Given the description of an element on the screen output the (x, y) to click on. 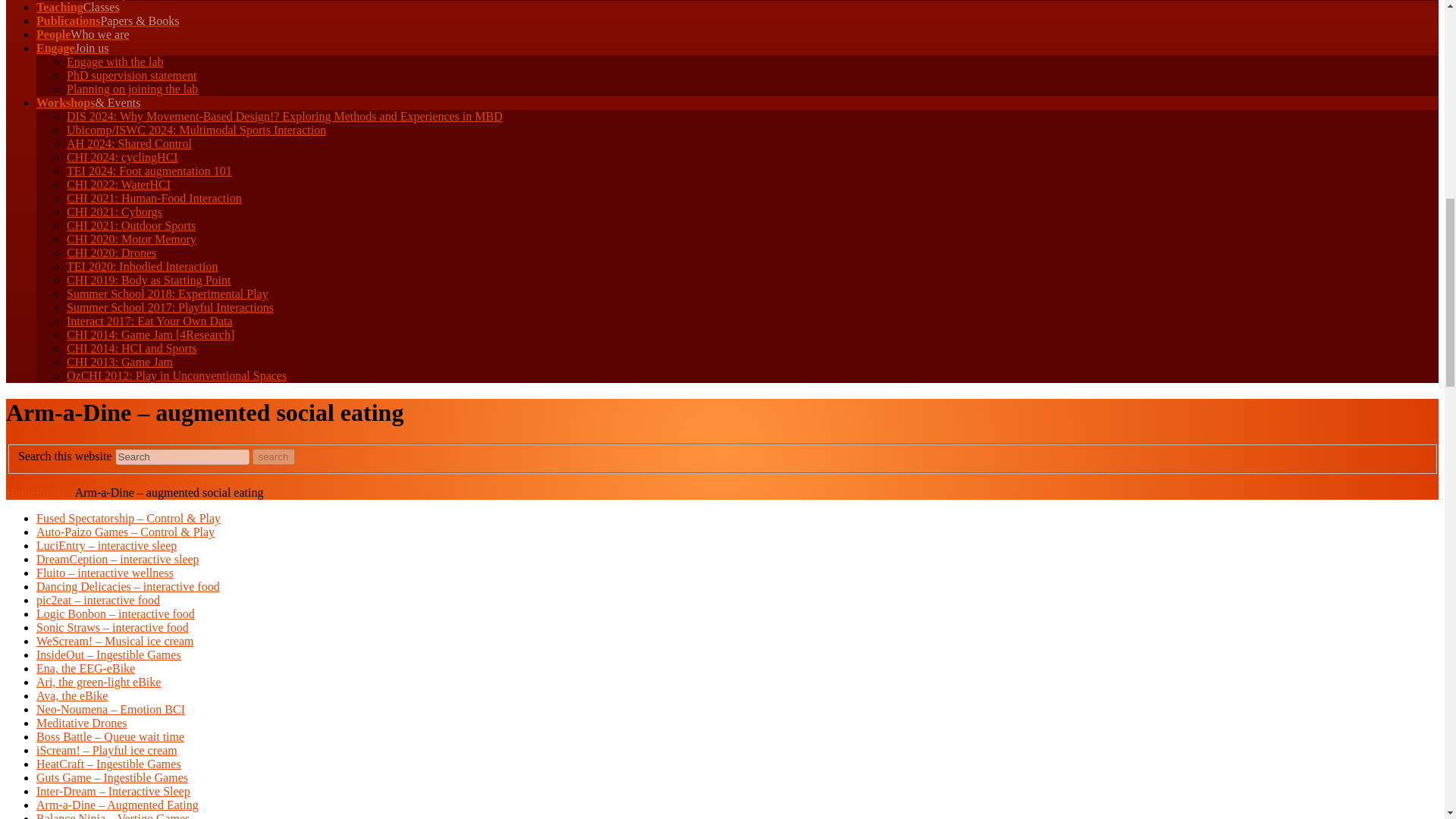
Who we are (82, 33)
Search (181, 456)
Join us (72, 47)
Papers and books (107, 20)
search (273, 456)
Classes (77, 6)
search (273, 456)
